Given the description of an element on the screen output the (x, y) to click on. 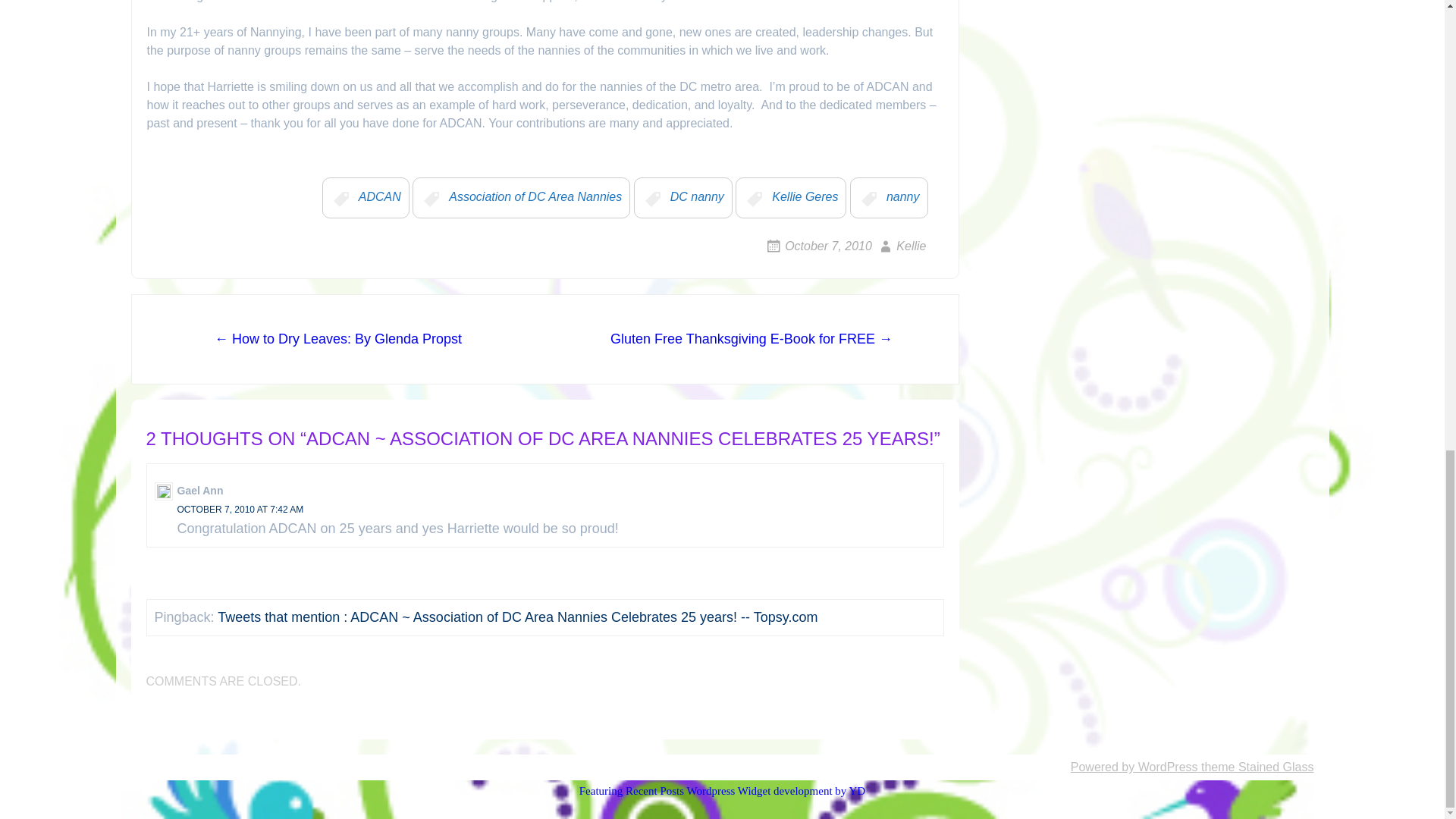
October 7, 2010 (817, 245)
Kellie (900, 245)
